Given the description of an element on the screen output the (x, y) to click on. 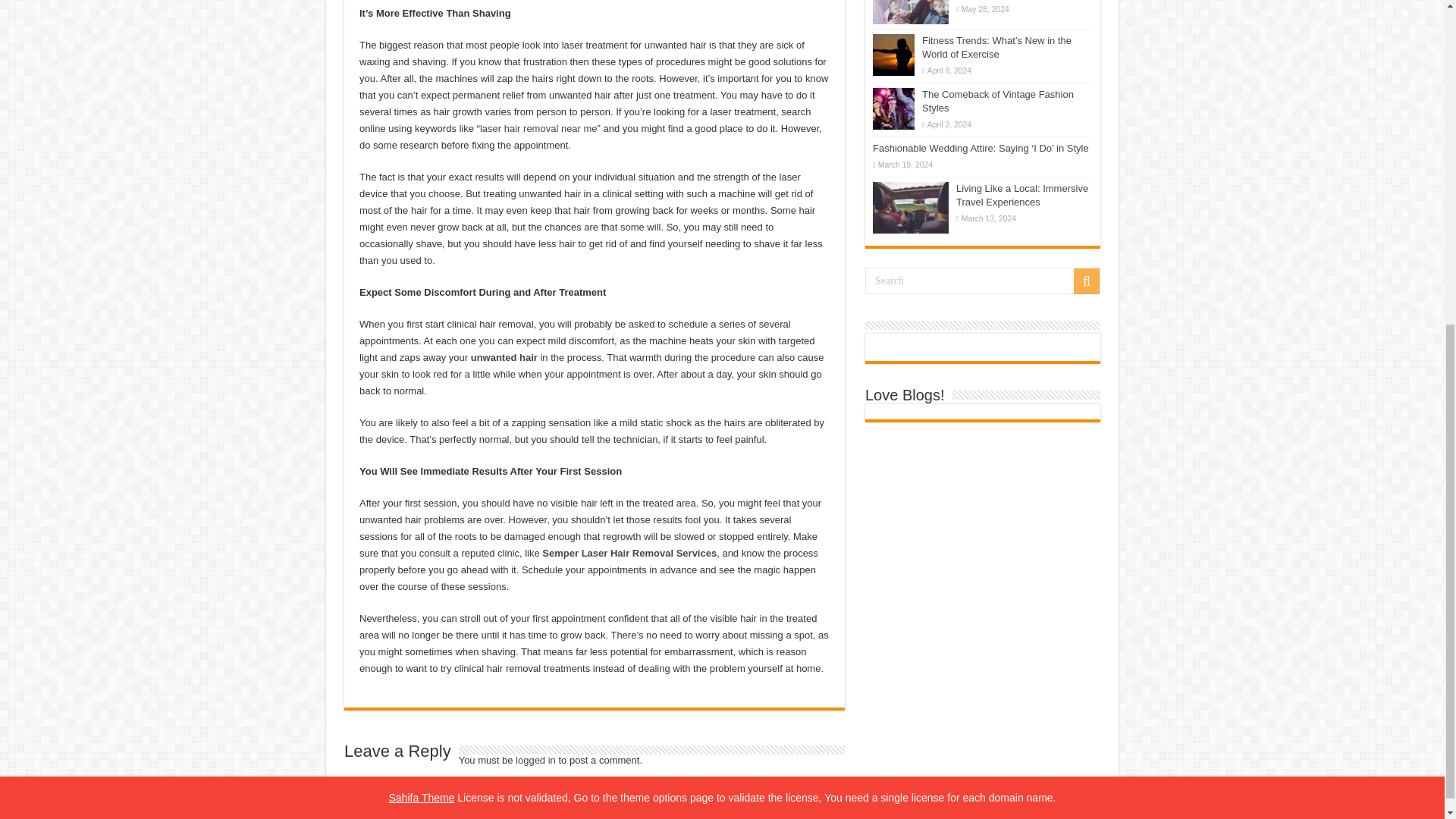
laser hair removal near me (538, 128)
logged in (535, 759)
Semper Laser Hair Removal Services (628, 552)
Search (982, 280)
unwanted hair (503, 357)
TOTS 100 - UK Parent Blogs (934, 346)
